Given the description of an element on the screen output the (x, y) to click on. 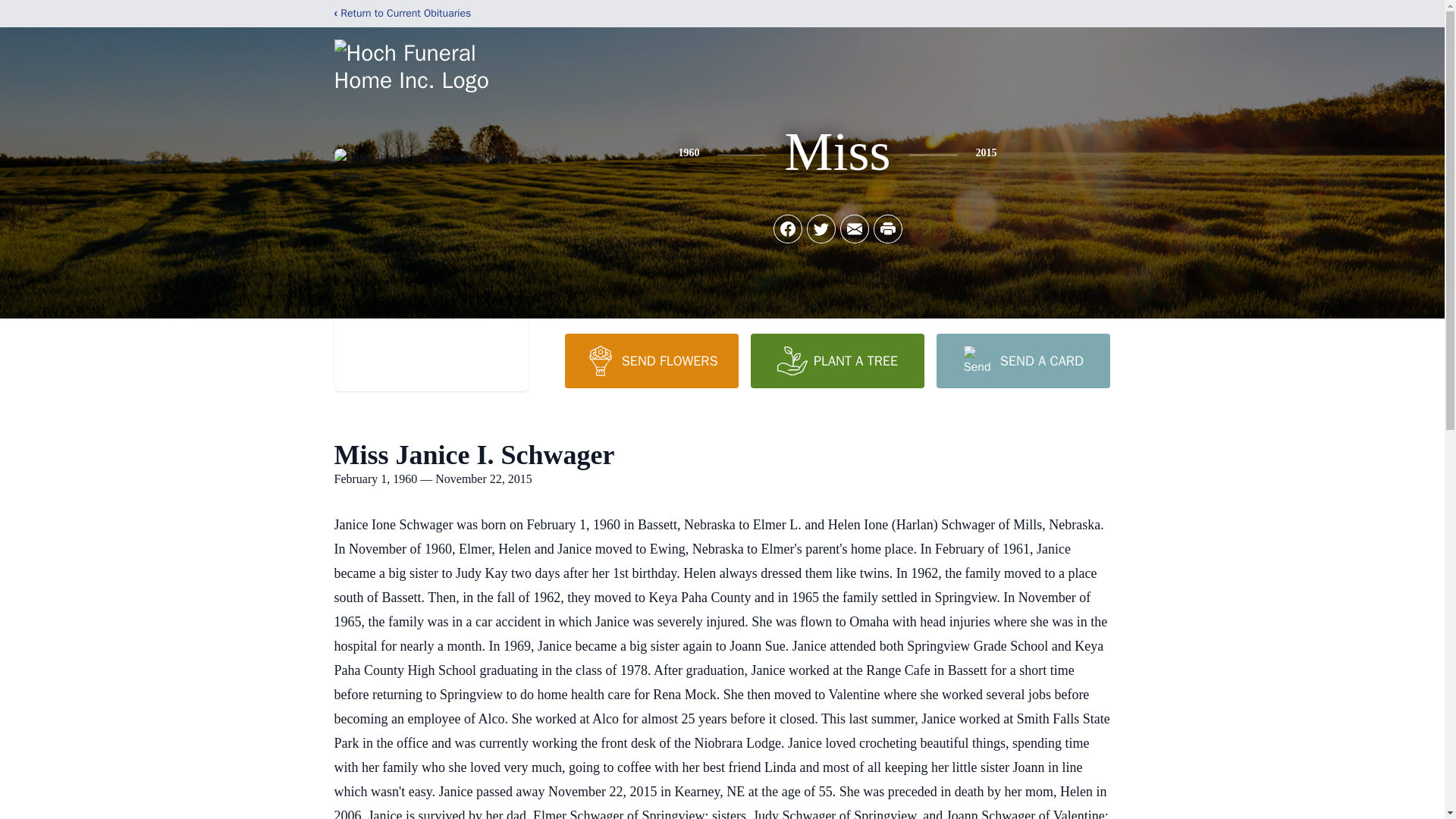
SEND A CARD (1022, 360)
SEND FLOWERS (651, 360)
PLANT A TREE (837, 360)
